Given the description of an element on the screen output the (x, y) to click on. 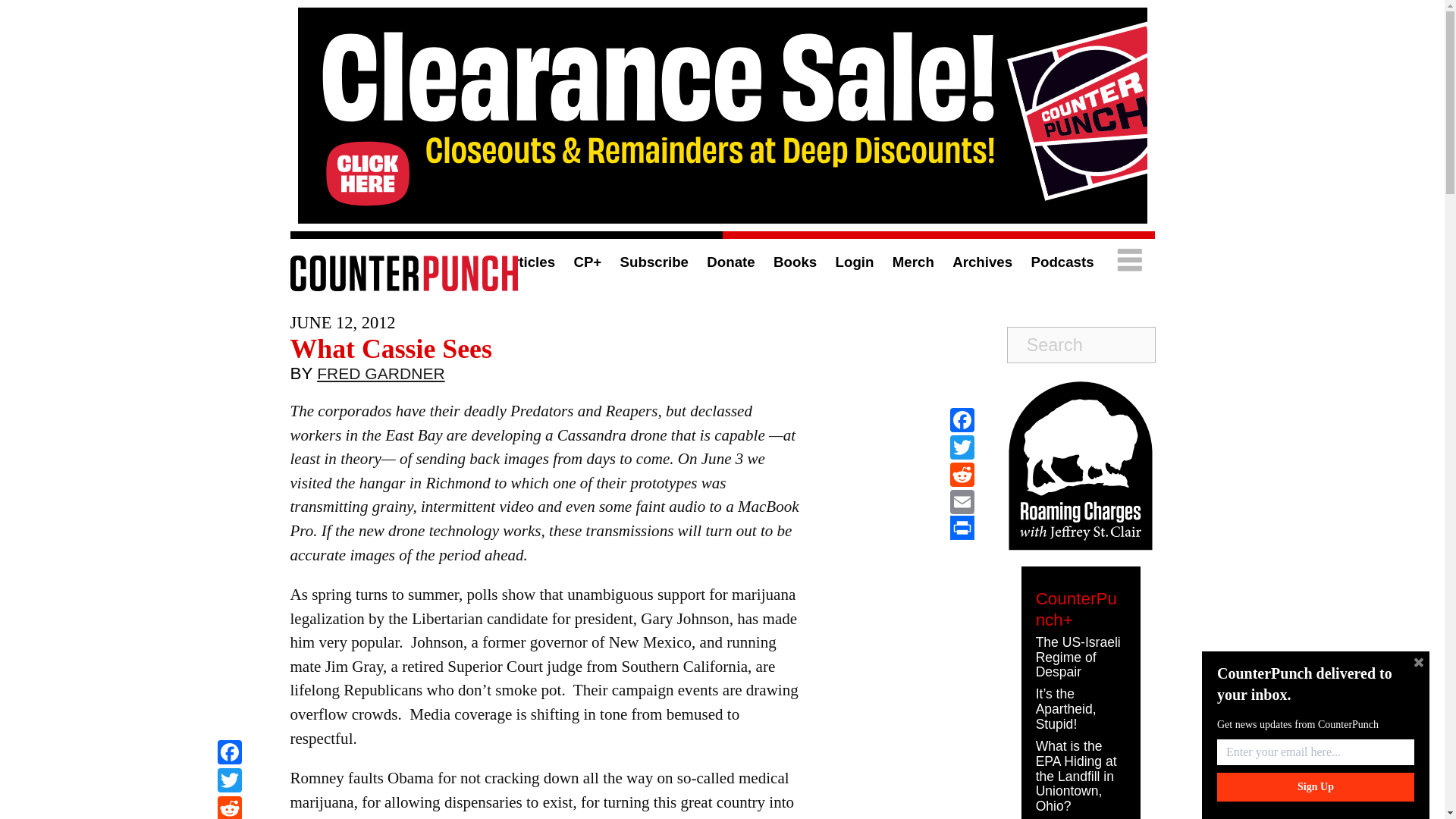
Reddit (962, 474)
Twitter (229, 782)
What Cassie Sees (390, 348)
Articles (528, 261)
Twitter (962, 447)
Facebook (229, 754)
The US-Israeli Regime of Despair (1078, 657)
Podcasts (1061, 261)
Archives (981, 261)
Merch (913, 261)
2012-06-12 (341, 322)
Donate (730, 261)
Books (794, 261)
Reddit (229, 807)
Login (855, 261)
